Given the description of an element on the screen output the (x, y) to click on. 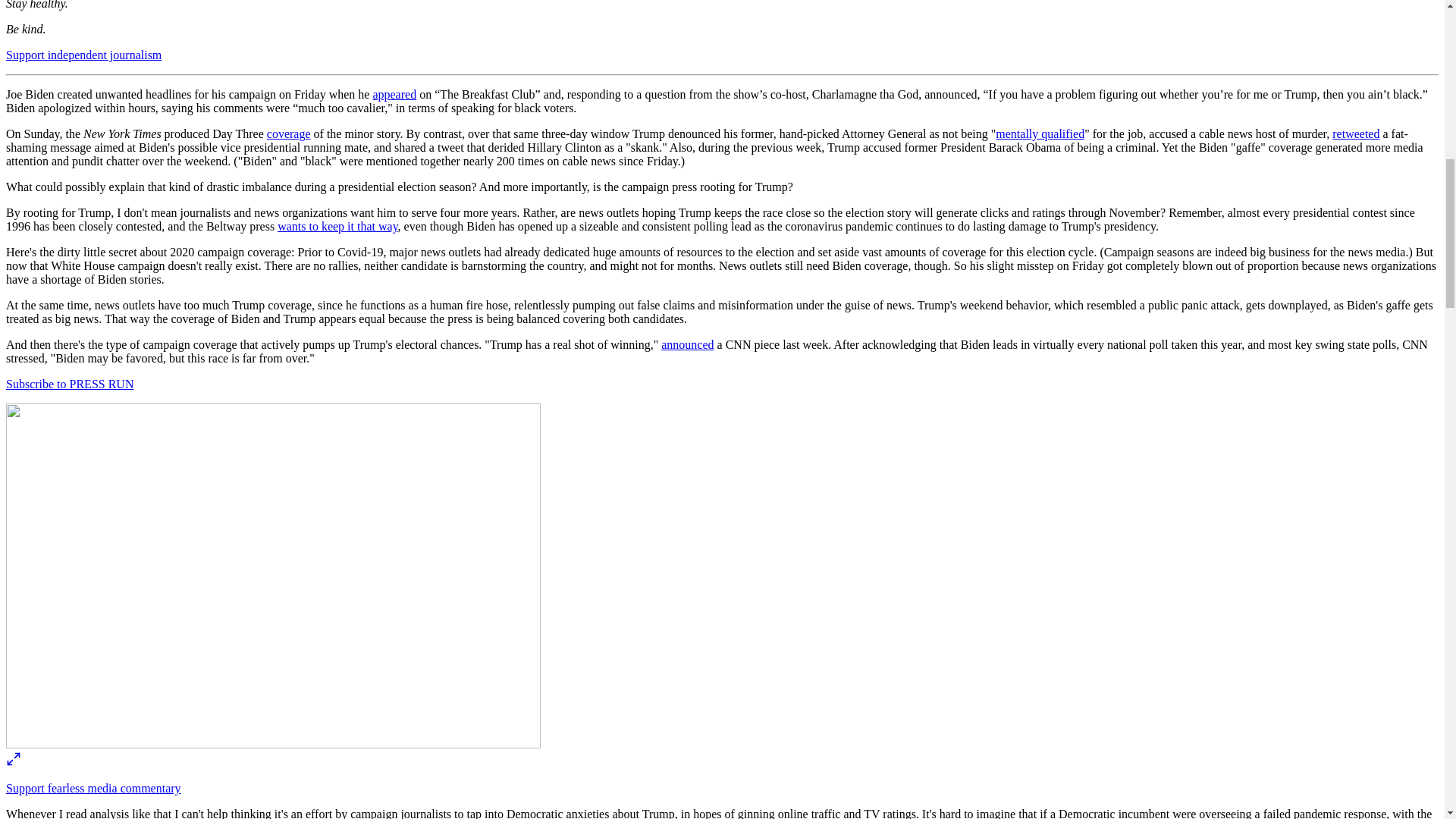
appeared (394, 93)
announced (687, 344)
Subscribe to PRESS RUN (69, 383)
wants to keep it that way (337, 226)
retweeted (1355, 133)
Support fearless media commentary (92, 788)
Support independent journalism (83, 54)
mentally qualified (1039, 133)
coverage (288, 133)
